Given the description of an element on the screen output the (x, y) to click on. 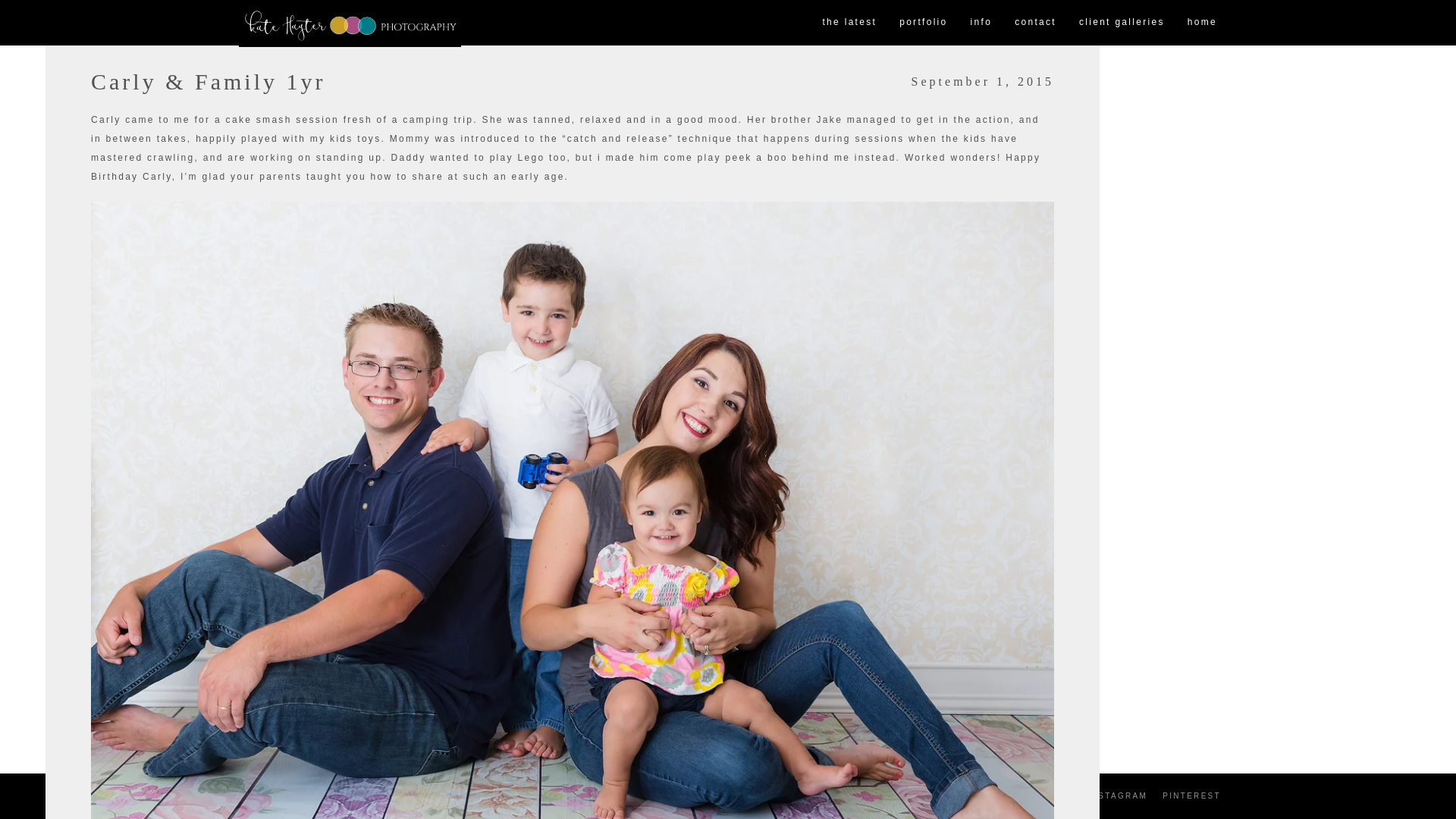
FACEBOOK (1043, 796)
client galleries (1121, 22)
portfolio (923, 22)
contact (1035, 22)
the latest (849, 22)
PINTEREST (1191, 796)
home (1202, 22)
INSTAGRAM (1117, 796)
info (981, 22)
